Given the description of an element on the screen output the (x, y) to click on. 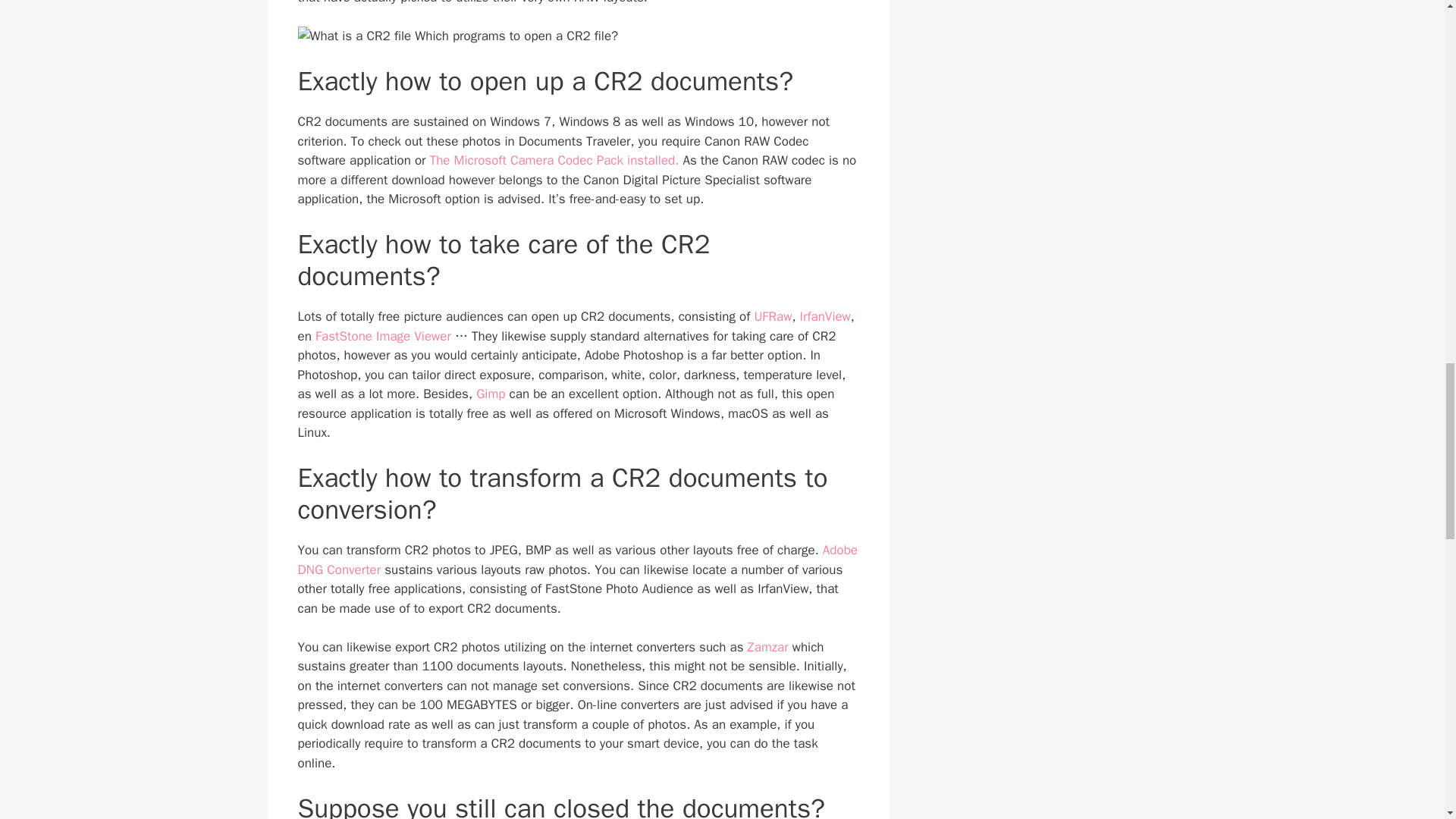
IrfanView (824, 316)
UFRaw (773, 316)
Adobe DNG Converter (577, 560)
FastStone Image Viewer (383, 335)
Zamzar (768, 647)
Gimp (490, 393)
The Microsoft Camera Codec Pack installed. (554, 160)
